Given the description of an element on the screen output the (x, y) to click on. 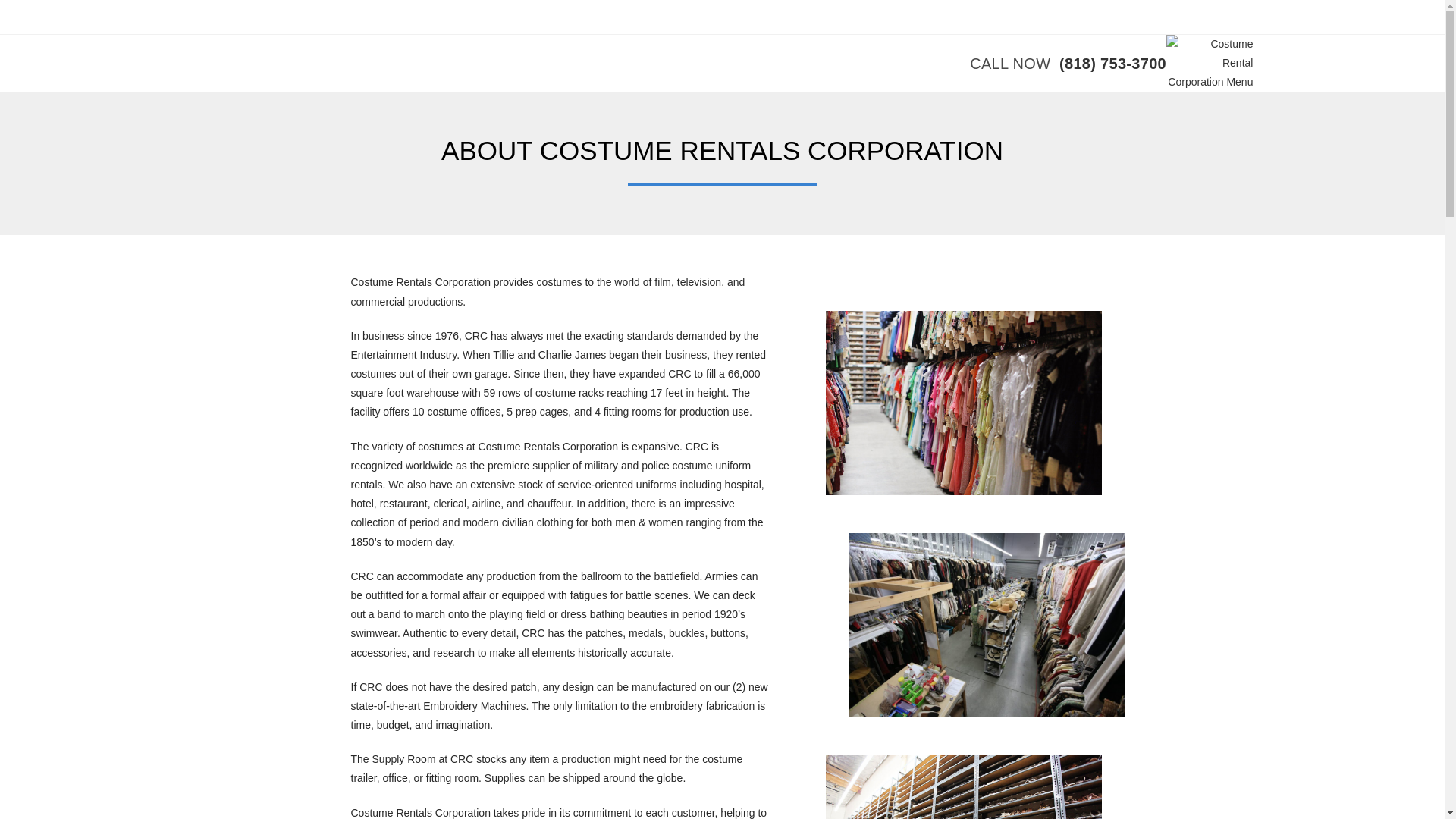
About Us (602, 16)
Expendables (480, 16)
Costume Rental Corporation Menu (1209, 63)
Home (282, 16)
Contact Us (668, 16)
Costumes (344, 16)
Gallery (546, 16)
Services (410, 16)
